Given the description of an element on the screen output the (x, y) to click on. 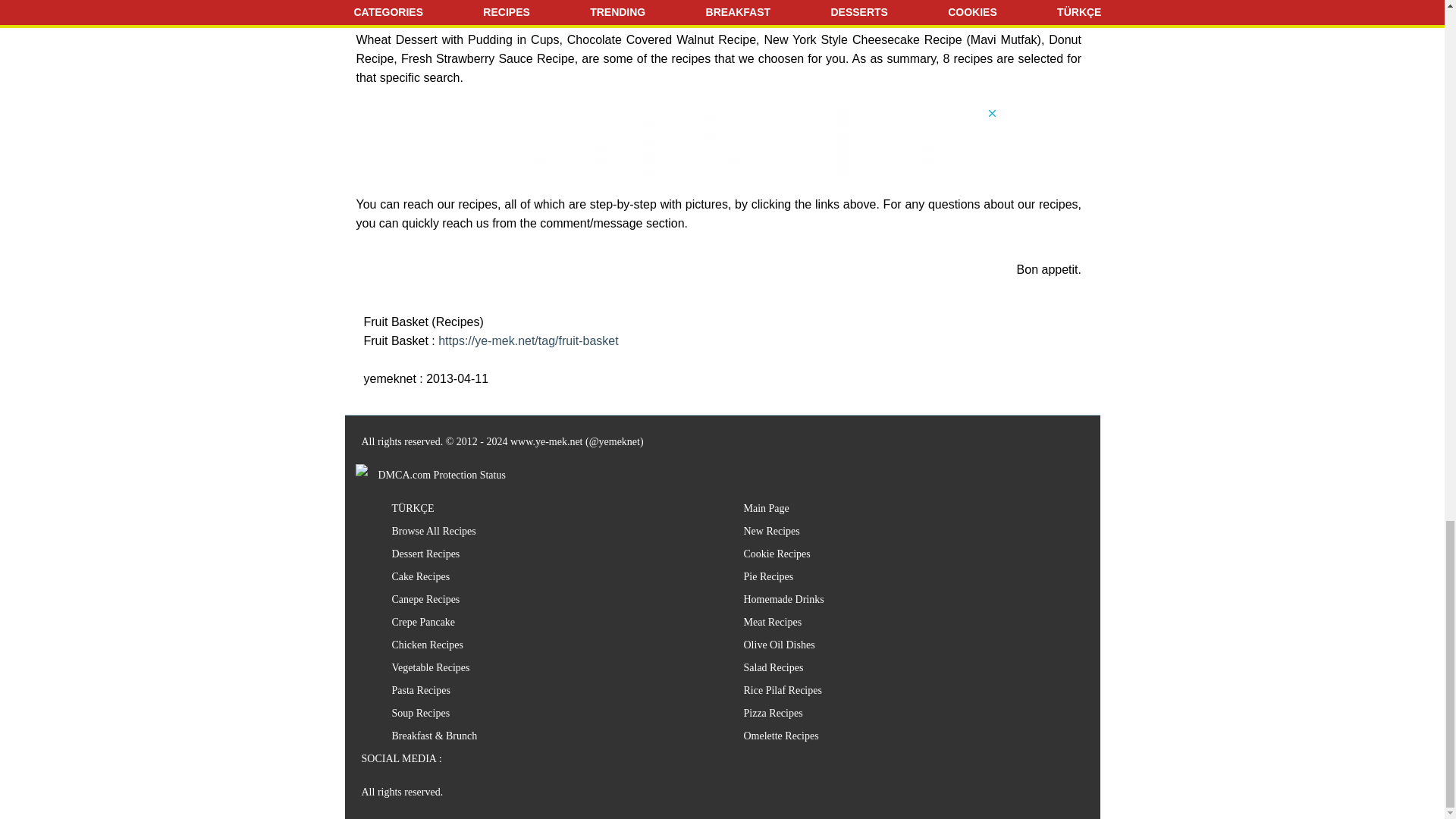
Canepe Recipes (425, 599)
Main Page (765, 508)
Browse All Recipes (433, 531)
Cake Recipes (420, 576)
New Recipes (770, 531)
Dessert Recipes (425, 553)
Cookie Recipes (775, 553)
Pie Recipes (767, 576)
Fruit Basket (527, 340)
DMCA.com Protection Status (430, 474)
3rd party ad content (721, 141)
